Given the description of an element on the screen output the (x, y) to click on. 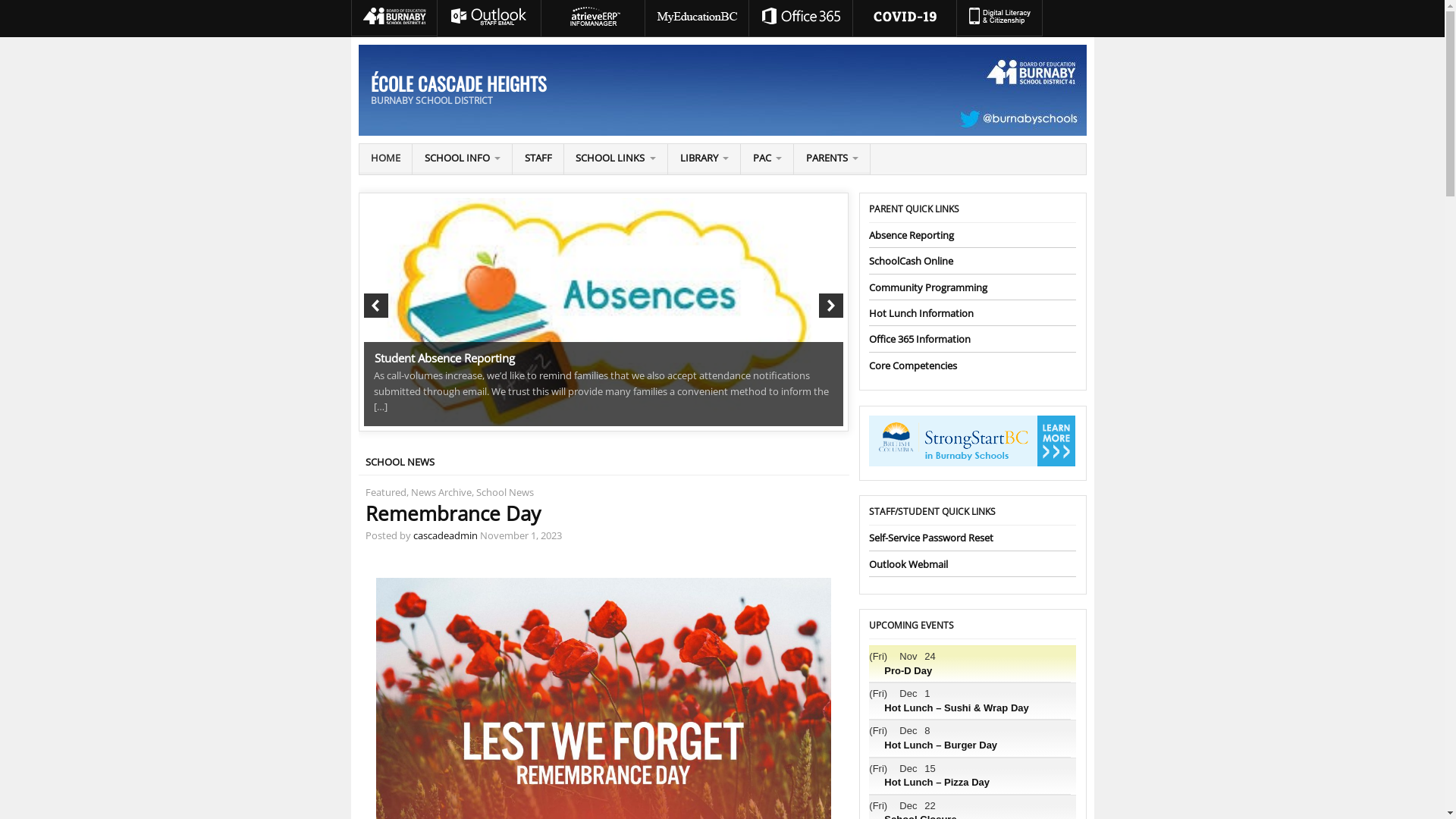
News Archive Element type: text (441, 491)
PARENTS Element type: text (831, 159)
Core Competencies Element type: text (913, 365)
Student Absence Reporting Element type: hover (603, 311)
Absence Reporting Element type: text (911, 234)
2 Element type: text (393, 212)
Outlook Webmail Element type: text (908, 564)
SchoolCash Online Element type: text (911, 260)
School News Element type: text (504, 491)
Remembrance Day Element type: text (452, 513)
Pro-D Day Element type: text (904, 677)
SCHOOL LINKS Element type: text (615, 159)
Remembrance Day Element type: hover (1082, 294)
cascadeadmin Element type: text (445, 535)
Community Programming Element type: text (928, 287)
Previous Element type: text (376, 305)
LIBRARY Element type: text (704, 159)
1 Element type: text (378, 212)
SCHOOL INFO Element type: text (461, 159)
Hot Lunch Information Element type: text (921, 313)
HOME Element type: text (385, 159)
STAFF Element type: text (537, 159)
Self-Service Password Reset Element type: text (931, 537)
Remembrance Day Element type: text (423, 338)
Office 365 Information Element type: text (919, 338)
PAC Element type: text (766, 159)
Next Element type: text (831, 305)
Featured Element type: text (385, 491)
